Given the description of an element on the screen output the (x, y) to click on. 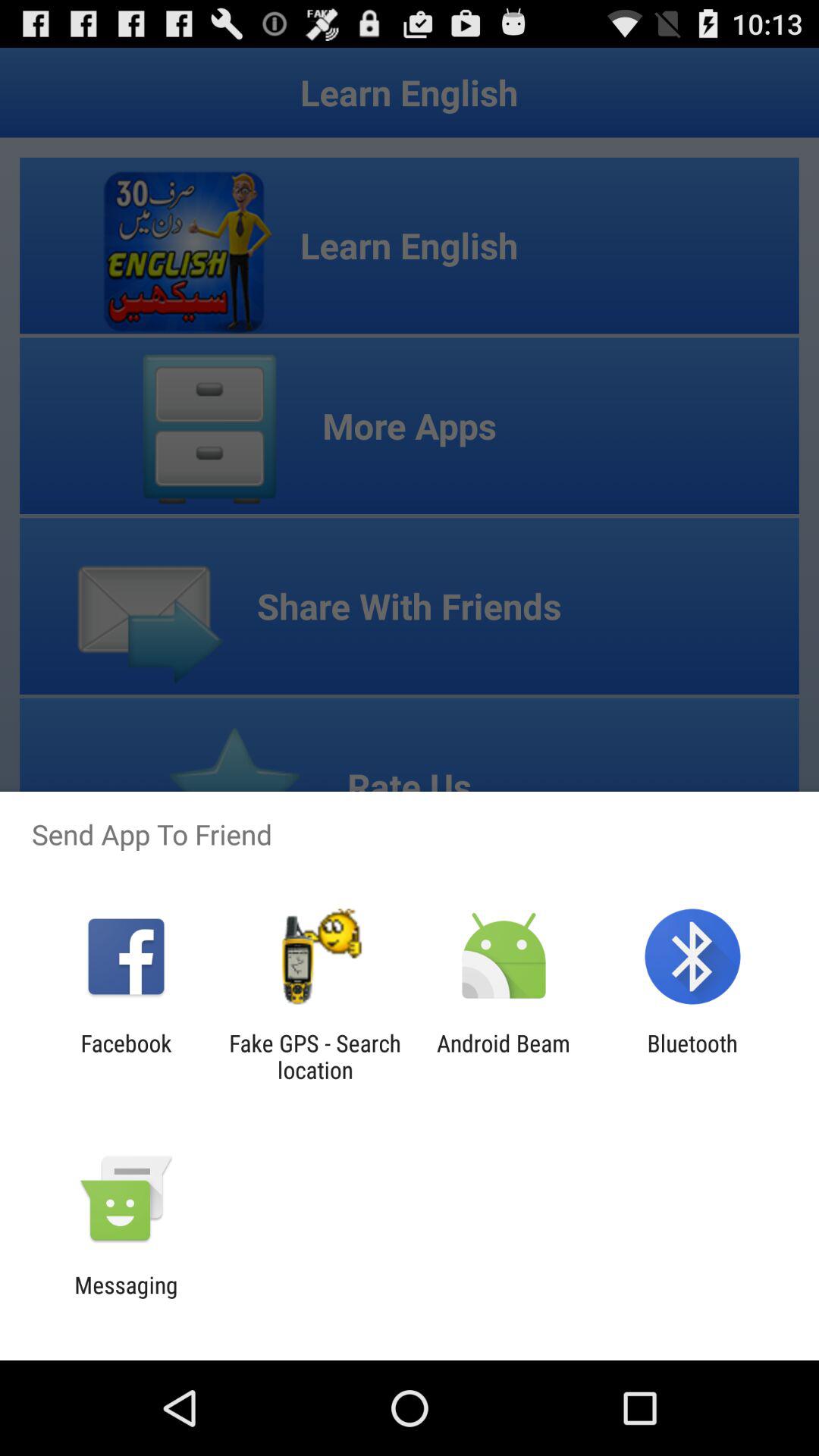
flip to the fake gps search (314, 1056)
